Given the description of an element on the screen output the (x, y) to click on. 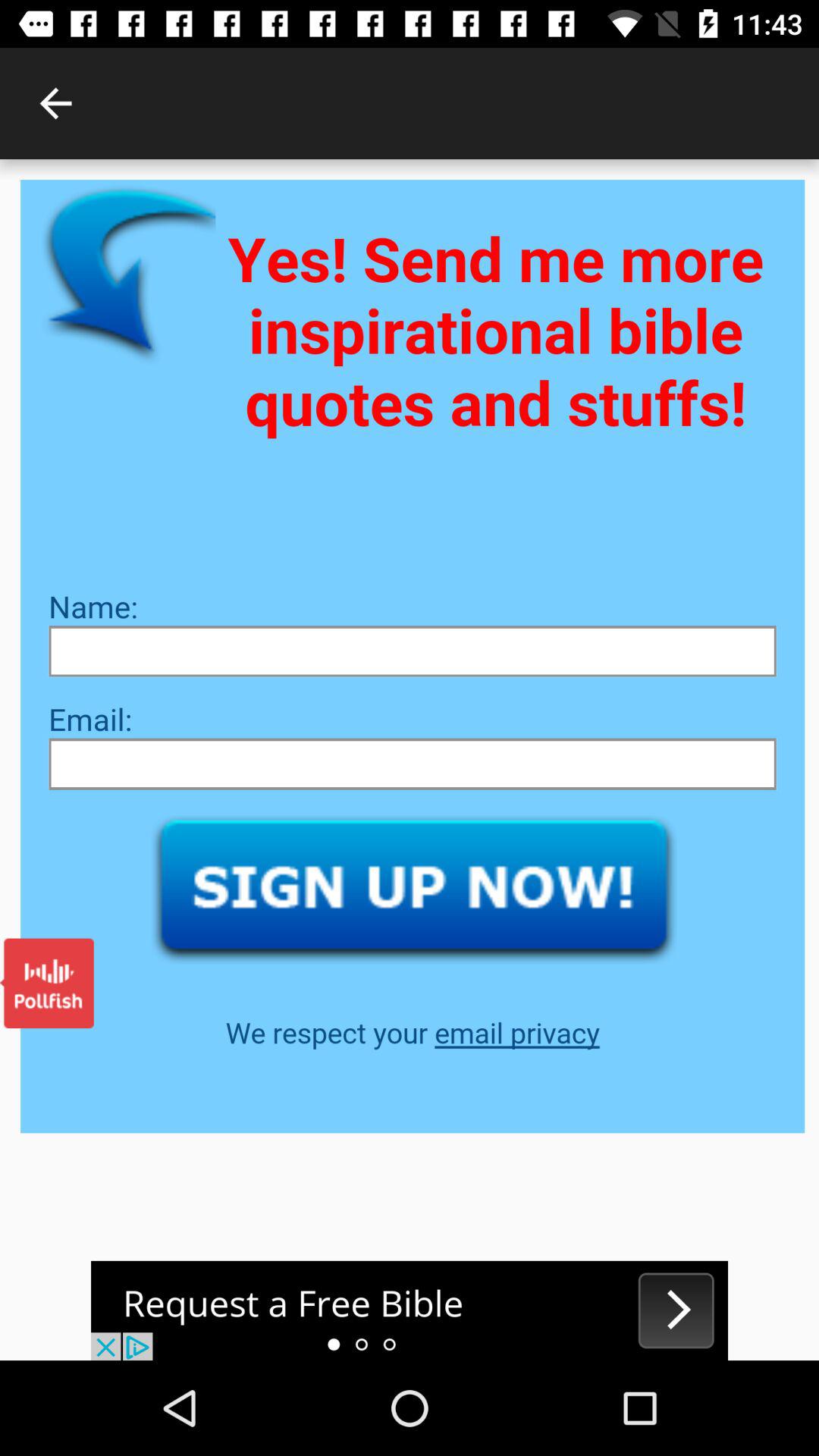
open pollfish (46, 983)
